Given the description of an element on the screen output the (x, y) to click on. 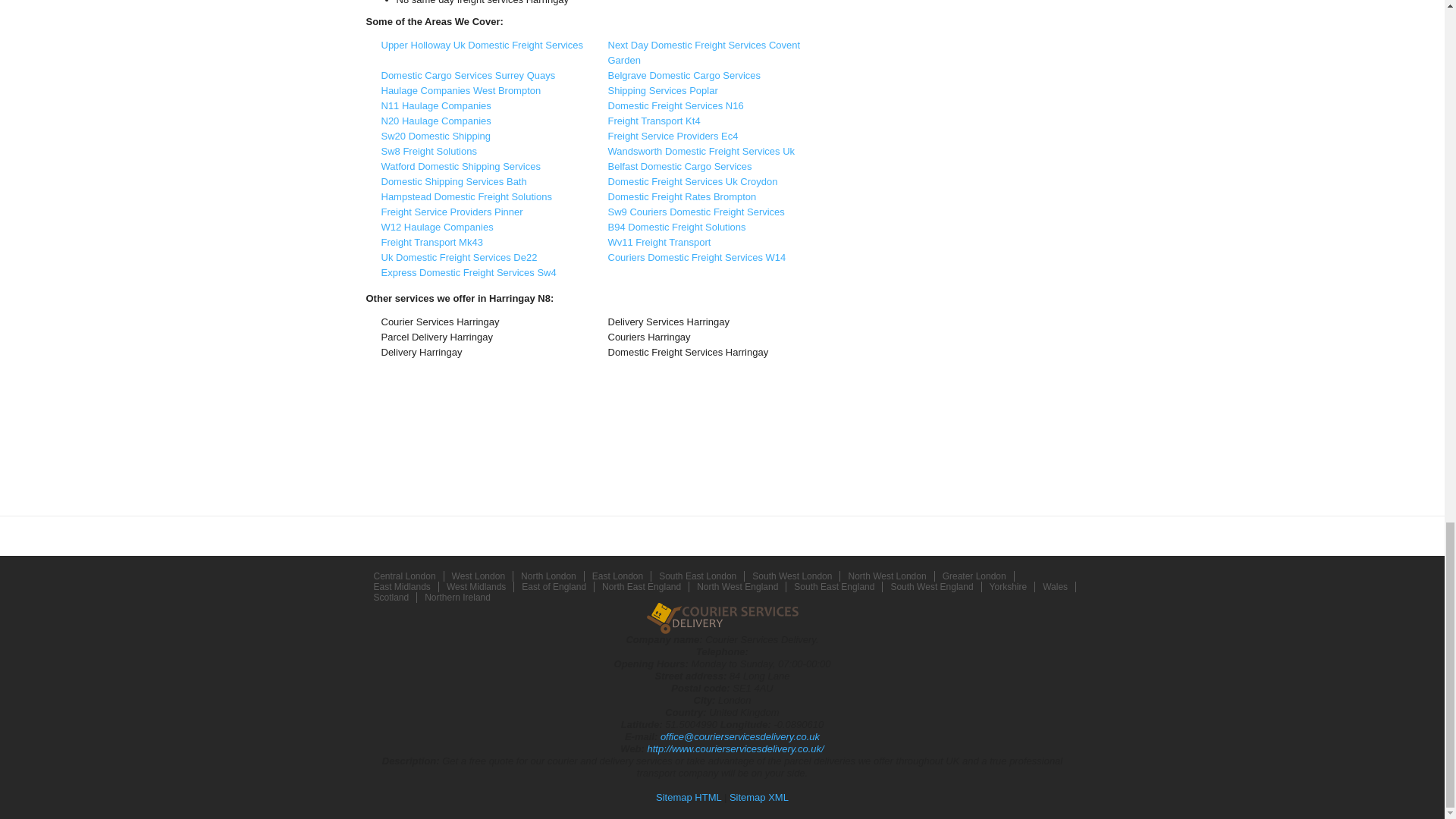
Temple Freight Service Providers Ec4 (673, 135)
Haulage Companies West Brompton (460, 90)
Domestic Freight Services N16 (676, 105)
Sw20 Domestic Shipping (435, 135)
Sw8 Freight Solutions (428, 151)
Shipping Services Poplar (662, 90)
BT7 Belfast Domestic Cargo Services (680, 165)
WD1 Watford Domestic Shipping Services (460, 165)
SE16 Domestic Cargo Services Surrey Quays (467, 75)
WC2 Next Day Domestic Freight Services Covent Garden (704, 52)
